Given the description of an element on the screen output the (x, y) to click on. 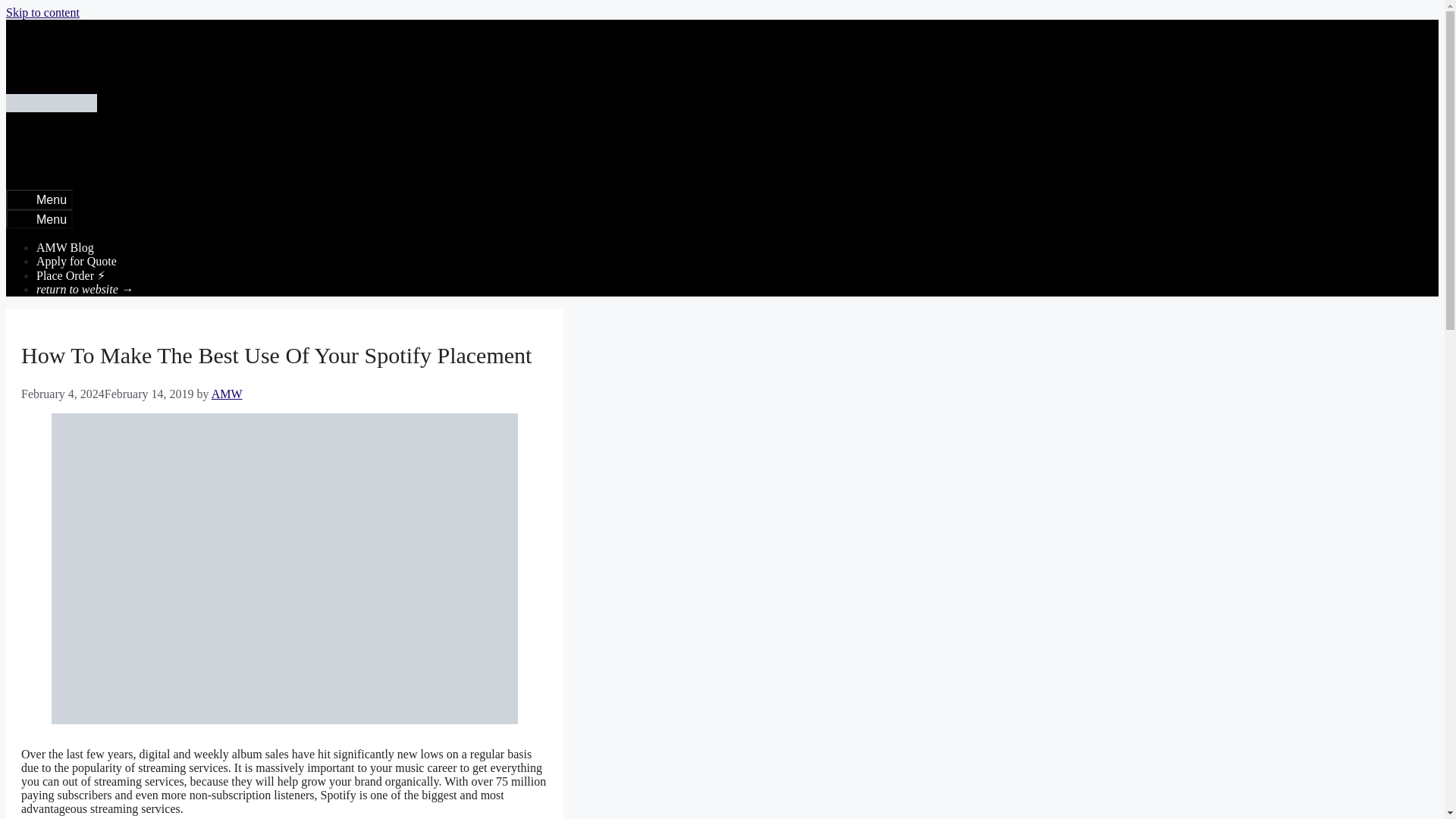
AMW Blog (65, 246)
View all posts by AMW (227, 393)
Skip to content (42, 11)
Menu (38, 219)
Menu (38, 199)
AMW (227, 393)
Apply for Quote (76, 260)
Skip to content (42, 11)
